Given the description of an element on the screen output the (x, y) to click on. 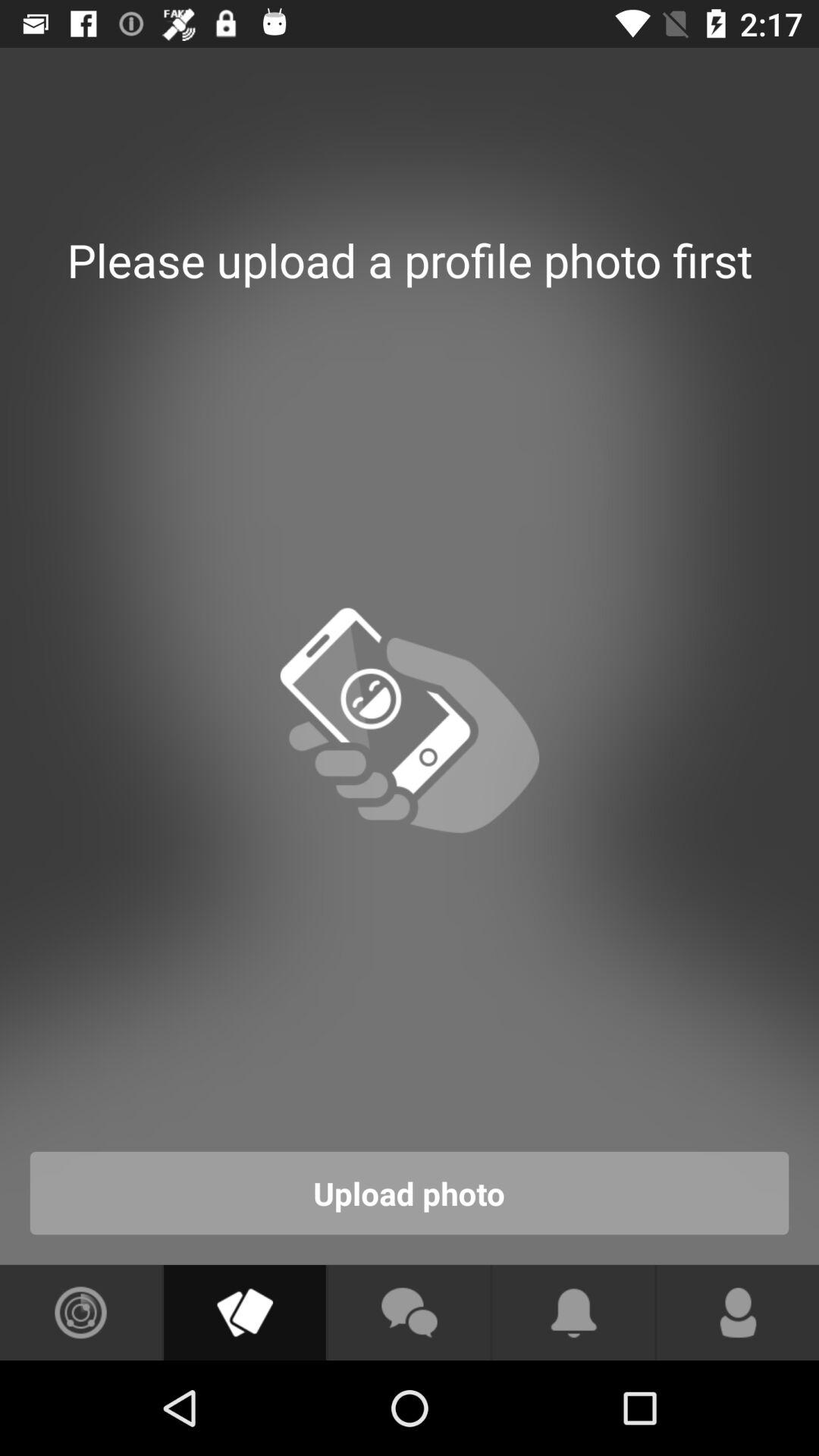
open profile (737, 1312)
